Given the description of an element on the screen output the (x, y) to click on. 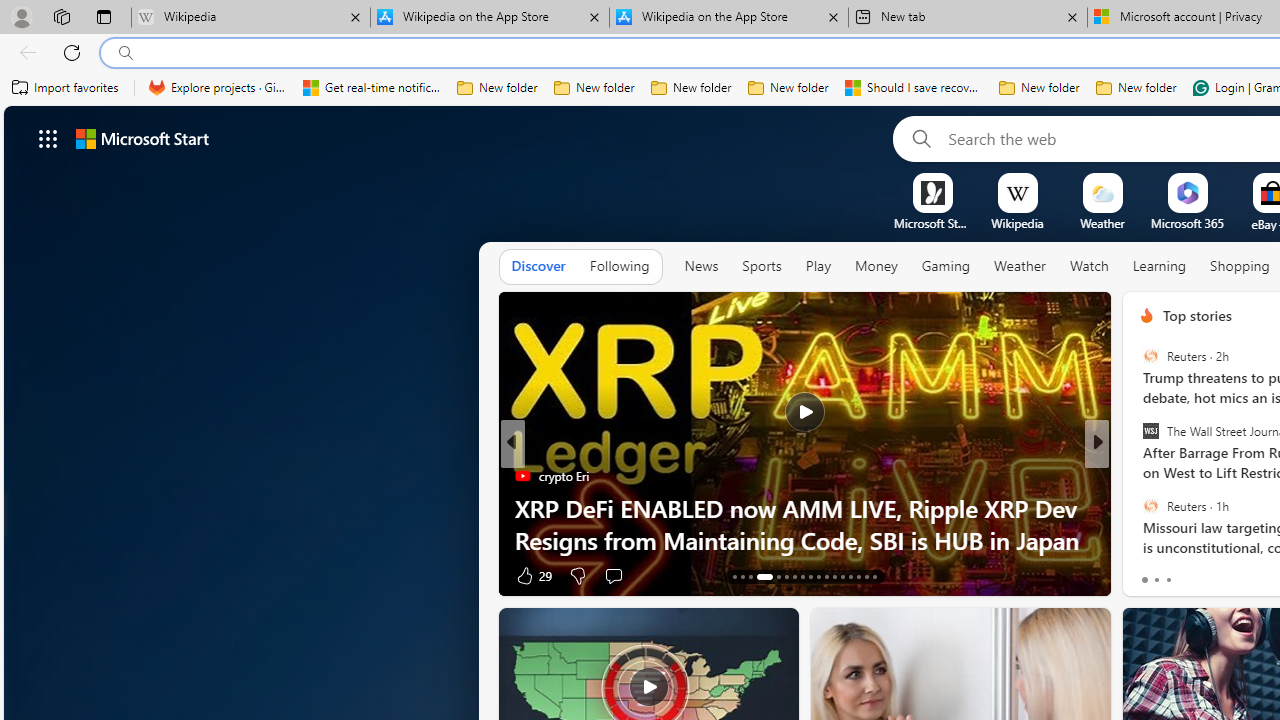
Gaming (945, 265)
Ad (1142, 575)
Following (619, 265)
Money (876, 267)
The Motley Fool (1138, 507)
Ad Choice (479, 575)
Discover (538, 267)
Microsoft Start Gaming (932, 223)
Nordace (1153, 507)
Start the conversation (1222, 575)
Money (875, 265)
1 Like (1145, 574)
View comments 1 Comment (1234, 574)
